Given the description of an element on the screen output the (x, y) to click on. 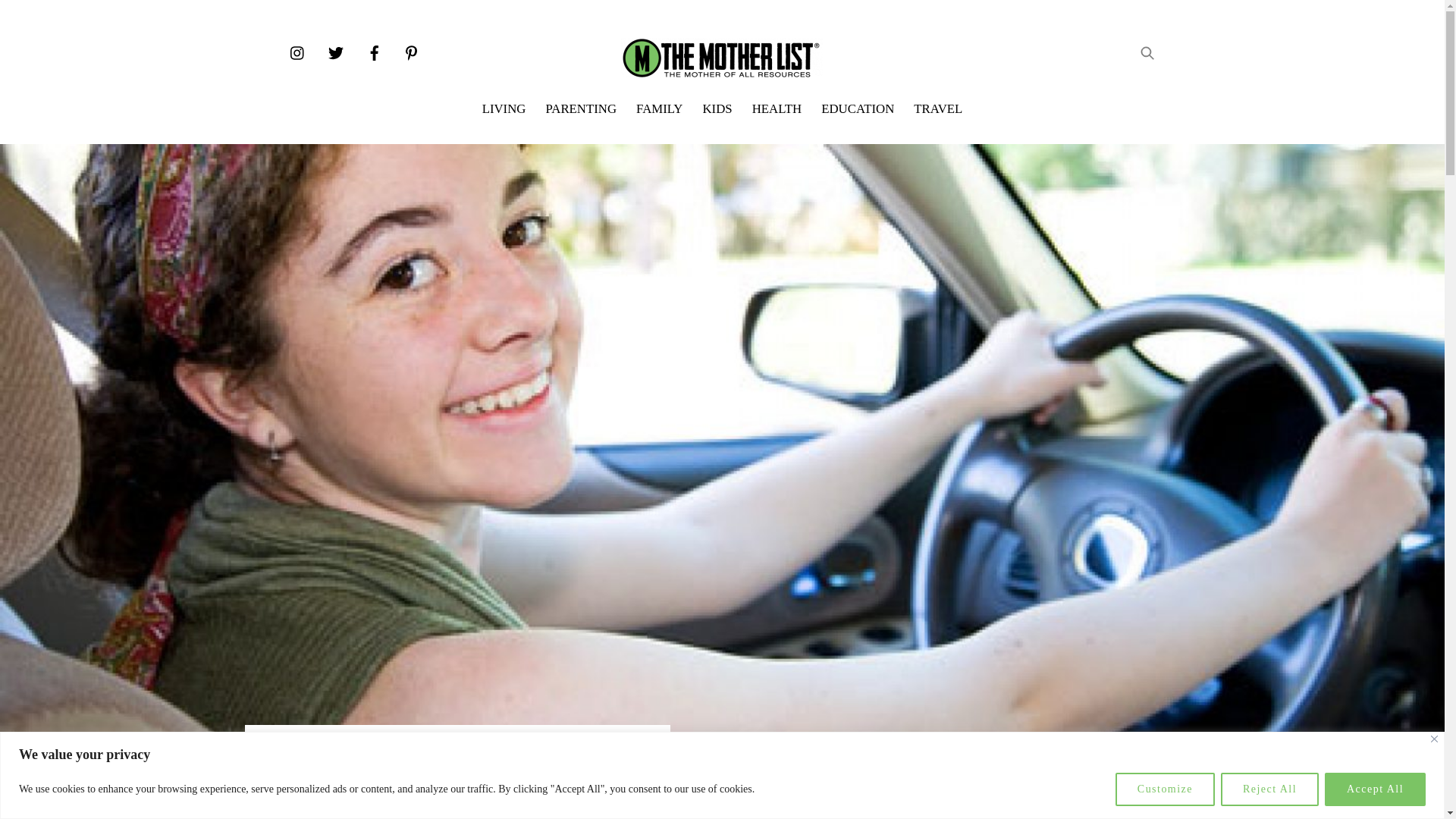
Reject All (1270, 788)
PARENTING (580, 109)
KIDS (716, 109)
Accept All (1374, 788)
Customize (1164, 788)
LIVING (504, 109)
FAMILY (305, 775)
FAMILY (658, 109)
EDUCATION (857, 109)
LIVING PARENTING FAMILY KIDS HEALTH EDUCATION TRAVEL (721, 109)
TRAVEL (937, 109)
HEALTH (777, 109)
